Given the description of an element on the screen output the (x, y) to click on. 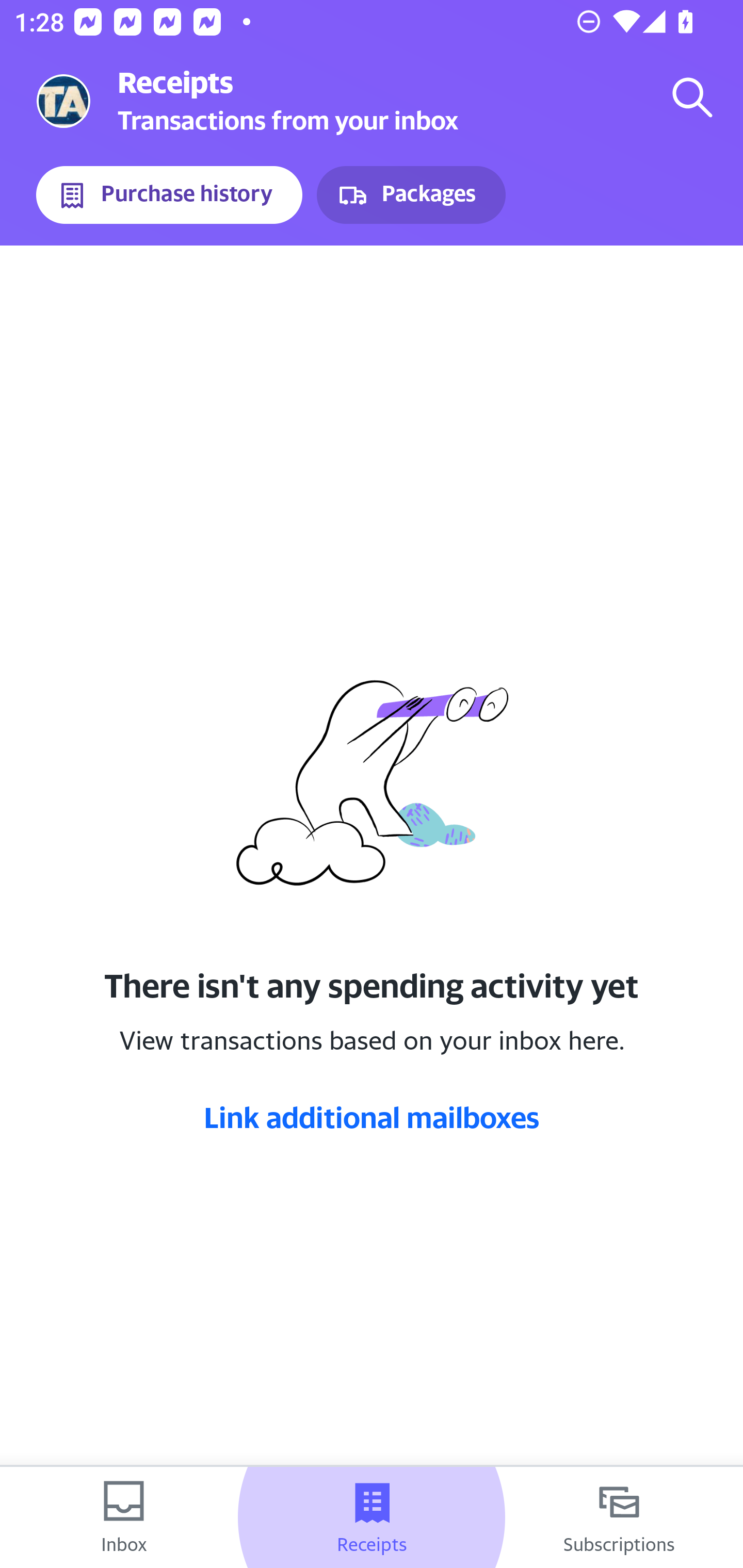
Search mail (692, 97)
Packages (410, 195)
Link additional mailboxes (371, 1117)
Inbox (123, 1517)
Receipts (371, 1517)
Subscriptions (619, 1517)
